Given the description of an element on the screen output the (x, y) to click on. 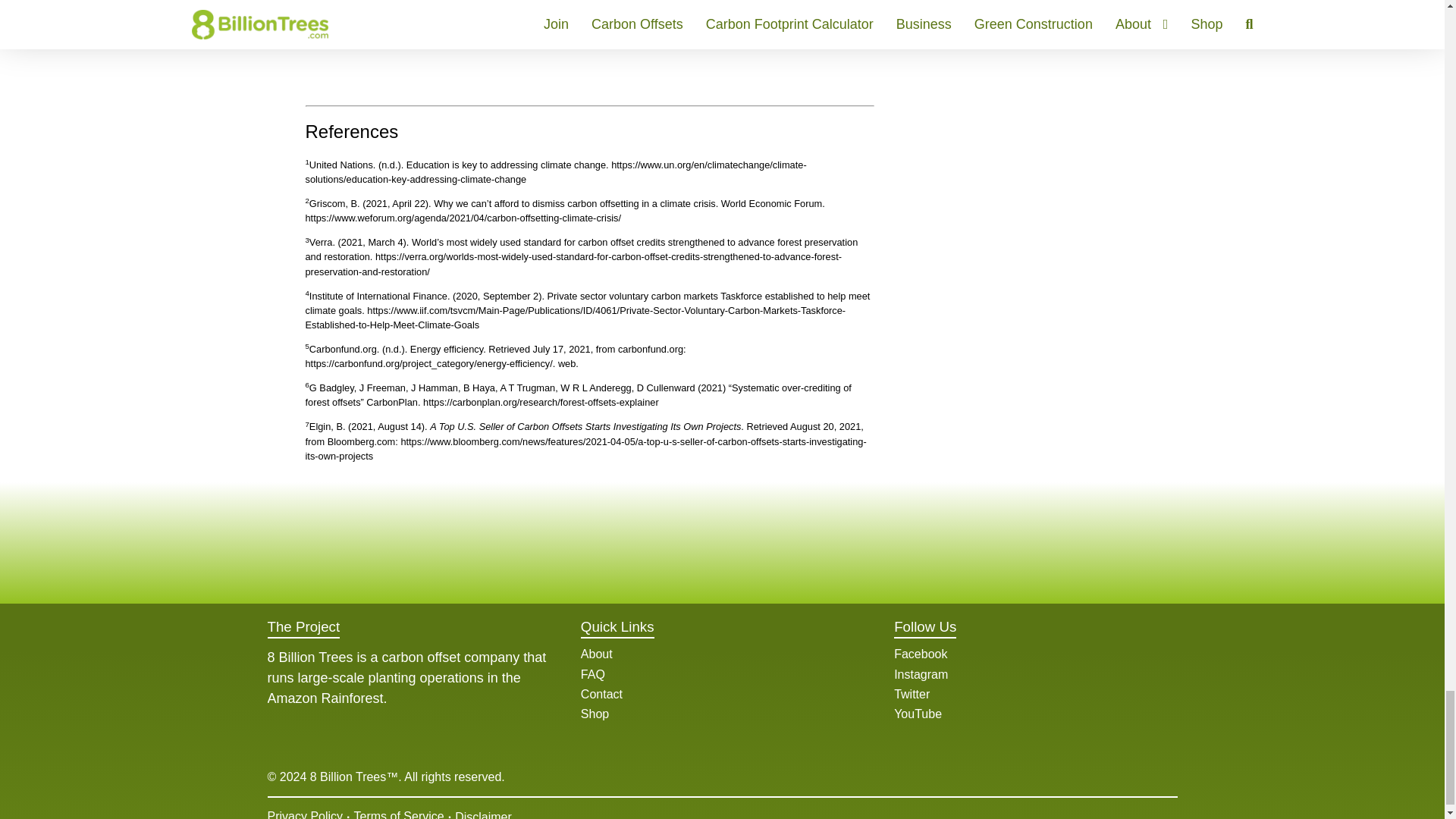
Previous (315, 44)
